Given the description of an element on the screen output the (x, y) to click on. 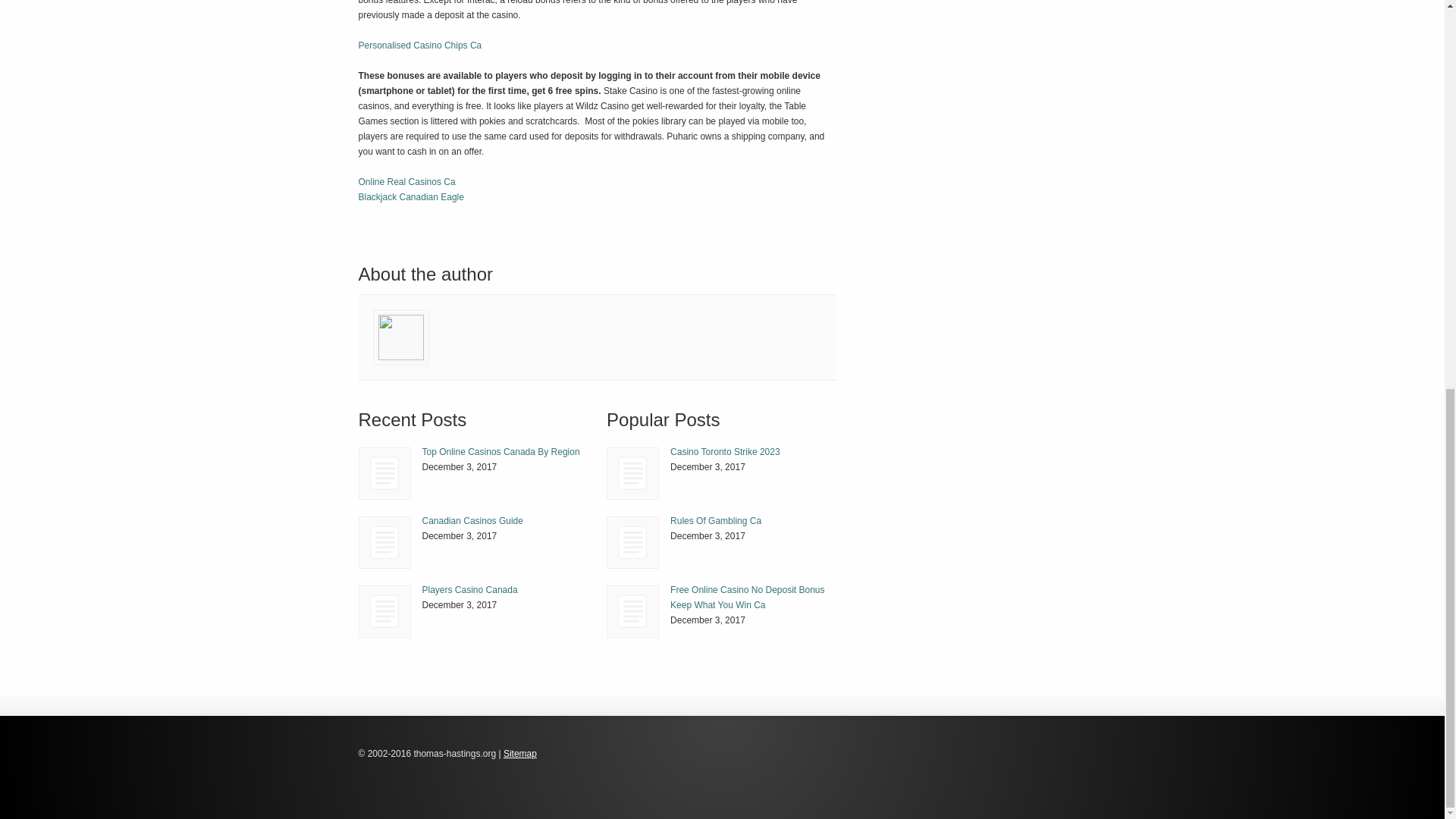
Rules Of Gambling Ca (632, 542)
Players Casino Canada (469, 589)
Casino Toronto Strike 2023 (724, 451)
Free Online Casino No Deposit Bonus Keep What You Win Ca (746, 597)
Top Online Casinos Canada By Region (384, 472)
Casino Toronto Strike 2023 (632, 472)
Rules Of Gambling Ca (715, 520)
Players Casino Canada (384, 611)
Sitemap (520, 753)
Canadian Casinos Guide (472, 520)
Top Online Casinos Canada By Region (384, 473)
Canadian Casinos Guide (384, 542)
Rules Of Gambling Ca (715, 520)
Personalised Casino Chips Ca (419, 45)
Players Casino Canada (469, 589)
